Given the description of an element on the screen output the (x, y) to click on. 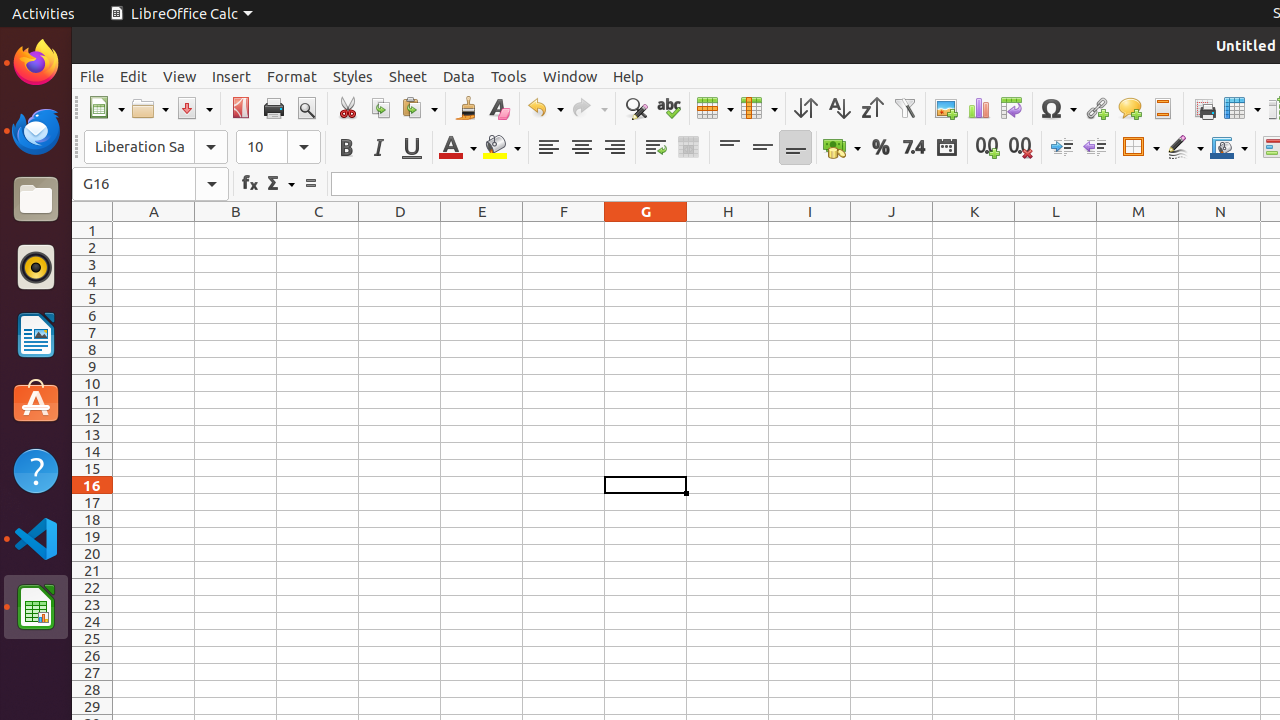
Print Area Element type: push-button (1203, 108)
Font Color Element type: push-button (458, 147)
Visual Studio Code Element type: push-button (36, 538)
Font Name Element type: combo-box (156, 147)
I1 Element type: table-cell (810, 230)
